Given the description of an element on the screen output the (x, y) to click on. 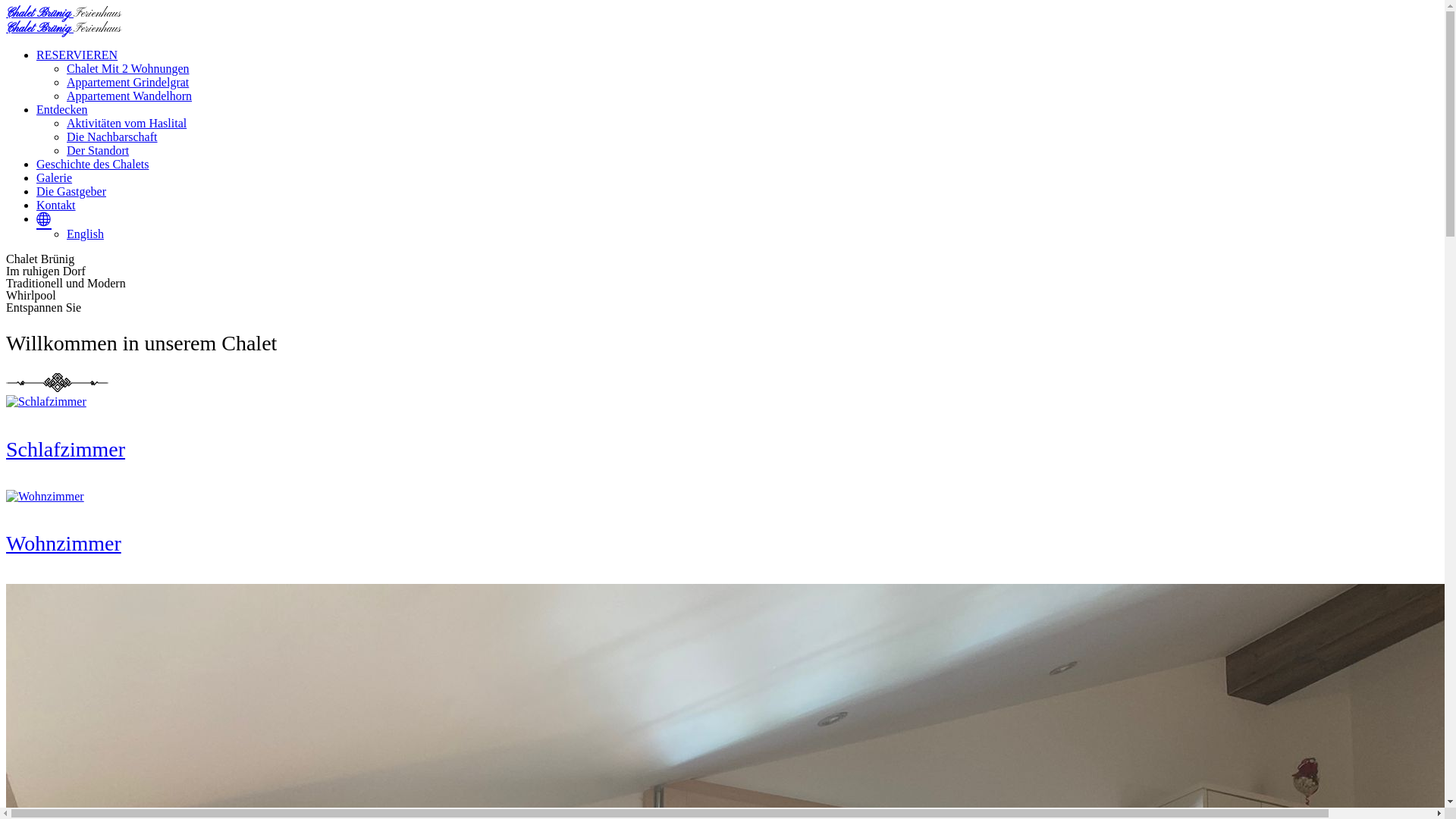
Appartement Grindelgrat Element type: text (127, 81)
Entdecken Element type: text (61, 109)
Schlafzimmer Element type: text (65, 449)
Appartement Wandelhorn Element type: text (128, 95)
Schlafzimmer Element type: hover (46, 401)
Kontakt Element type: text (55, 204)
English Element type: text (84, 233)
Galerie Element type: text (54, 177)
Wohnzimmer Element type: hover (45, 495)
Die Nachbarschaft Element type: text (111, 136)
Der Standort Element type: text (97, 150)
Wohnzimmer Element type: text (63, 543)
RESERVIEREN Element type: text (76, 54)
Die Gastgeber Element type: text (71, 191)
Sprache Element type: hover (43, 218)
Geschichte des Chalets Element type: text (92, 163)
Chalet Mit 2 Wohnungen Element type: text (127, 68)
